Given the description of an element on the screen output the (x, y) to click on. 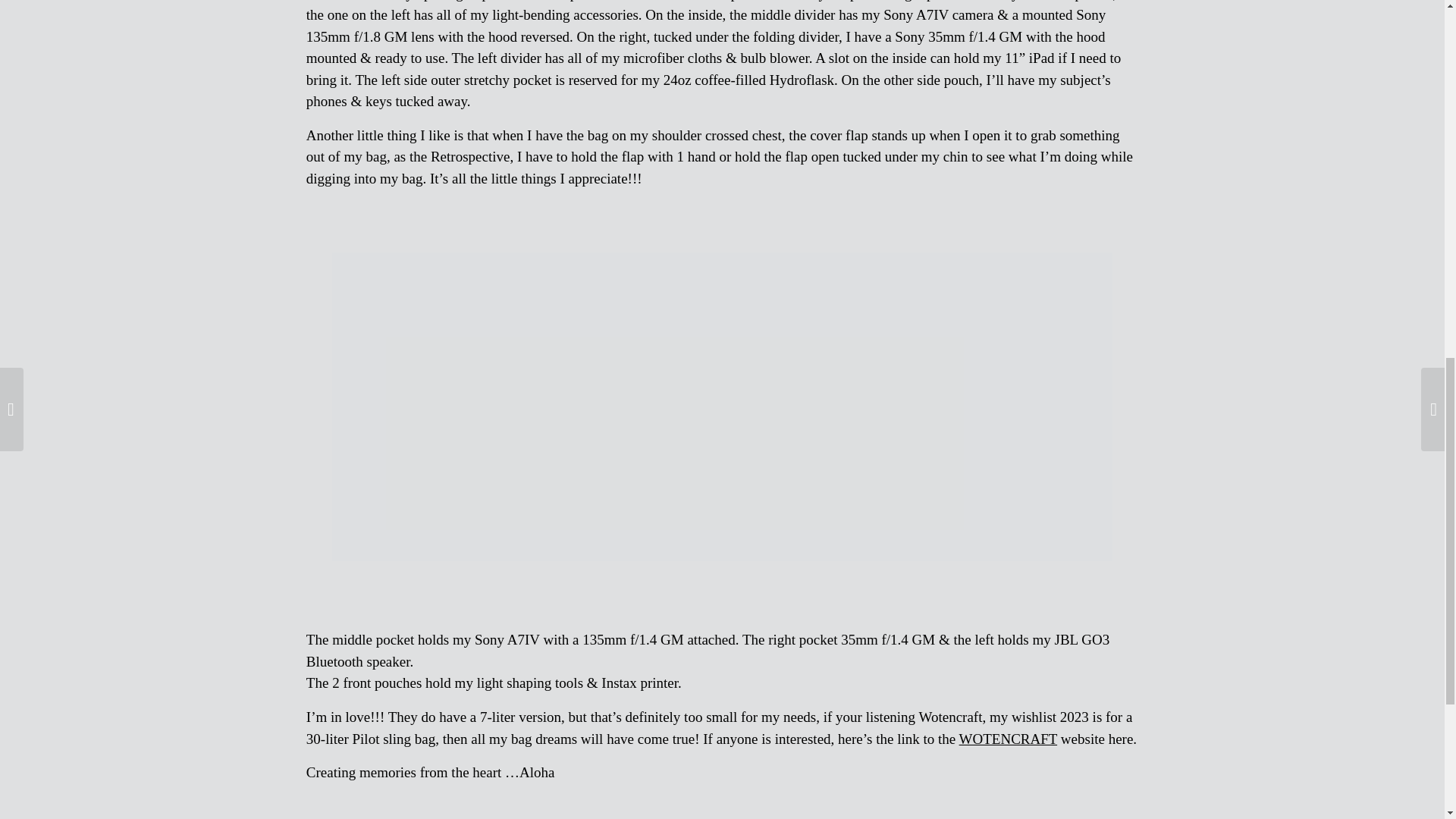
WOTENCRAFT (1008, 738)
